Given the description of an element on the screen output the (x, y) to click on. 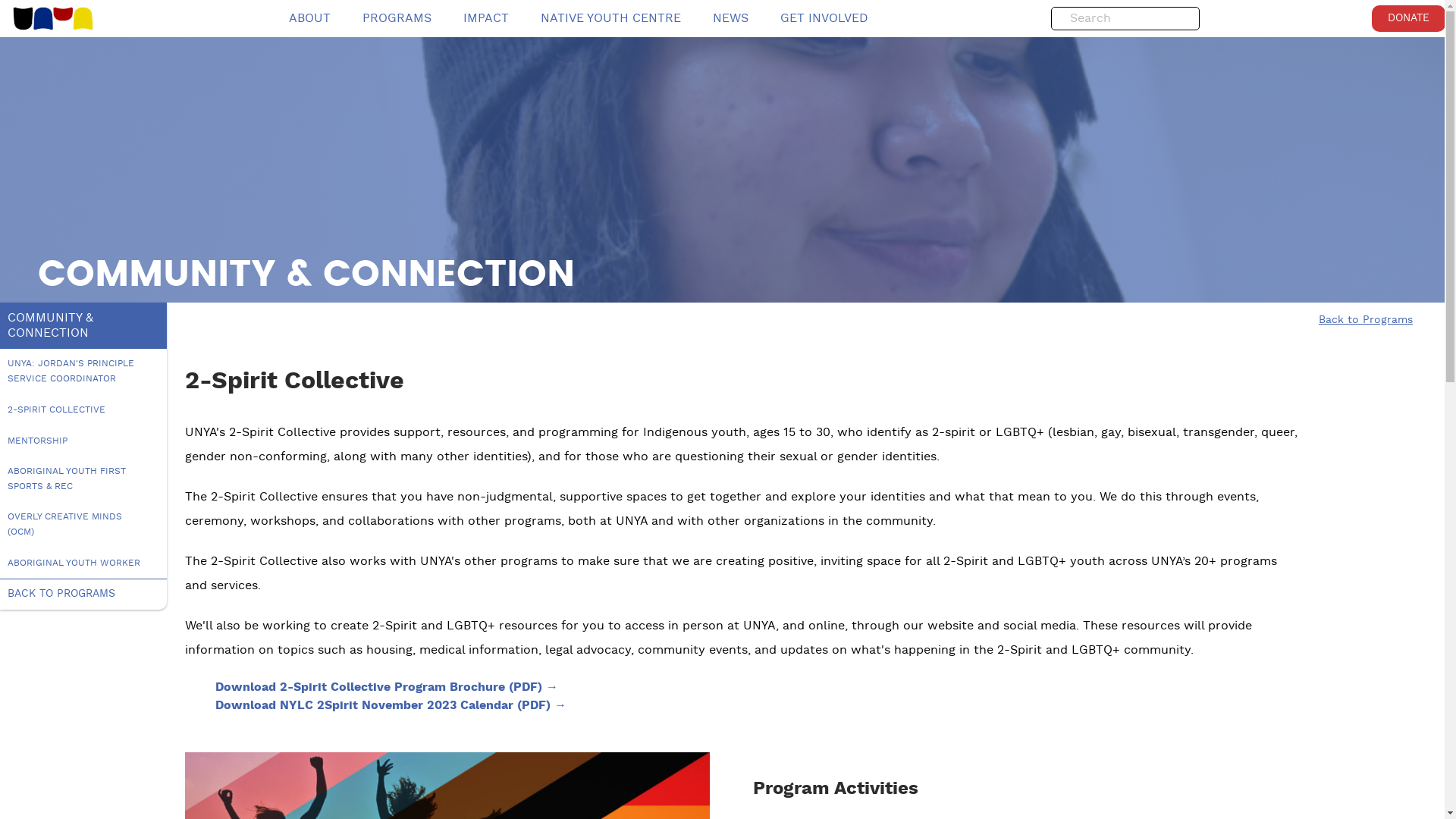
GET INVOLVED Element type: text (824, 18)
MENTORSHIP Element type: text (75, 440)
Back to Programs Element type: text (722, 320)
Search Element type: text (1185, 18)
NEWS Element type: text (730, 18)
ABORIGINAL YOUTH WORKER Element type: text (75, 562)
BACK TO PROGRAMS Element type: text (83, 594)
IMPACT Element type: text (485, 18)
Search for: Element type: hover (1107, 18)
ABOUT Element type: text (309, 18)
NATIVE YOUTH CENTRE Element type: text (610, 18)
ABORIGINAL YOUTH FIRST SPORTS & REC Element type: text (75, 486)
PROGRAMS Element type: text (396, 18)
2-SPIRIT COLLECTIVE Element type: text (75, 409)
DONATE Element type: text (1408, 18)
UNYA: JORDAN'S PRINCIPLE SERVICE COORDINATOR Element type: text (75, 378)
OVERLY CREATIVE MINDS (OCM) Element type: text (75, 531)
